Given the description of an element on the screen output the (x, y) to click on. 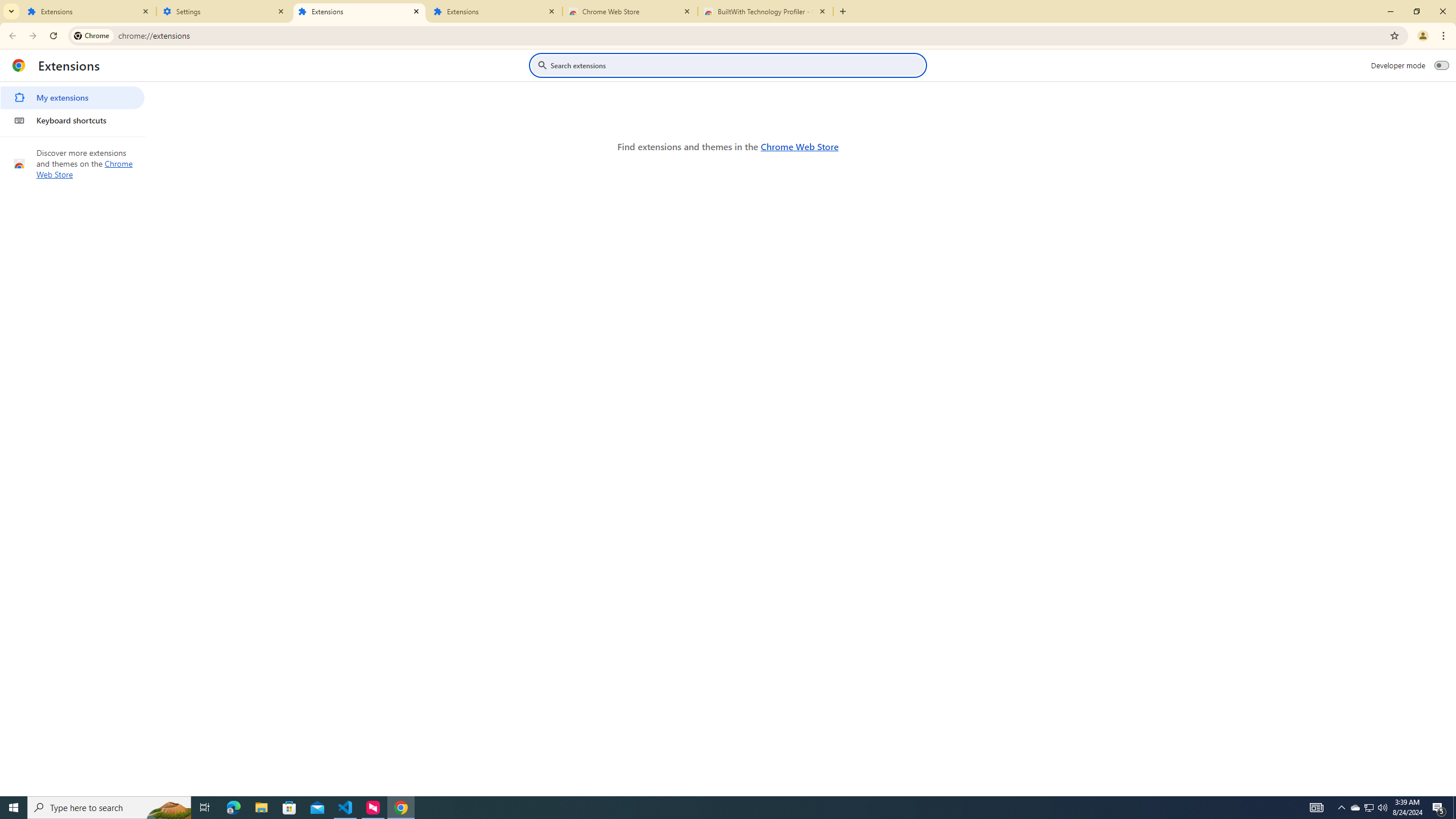
Chrome Web Store (630, 11)
BuiltWith Technology Profiler - Chrome Web Store (765, 11)
Extensions (494, 11)
Extensions (88, 11)
AutomationID: sectionMenu (72, 106)
